Given the description of an element on the screen output the (x, y) to click on. 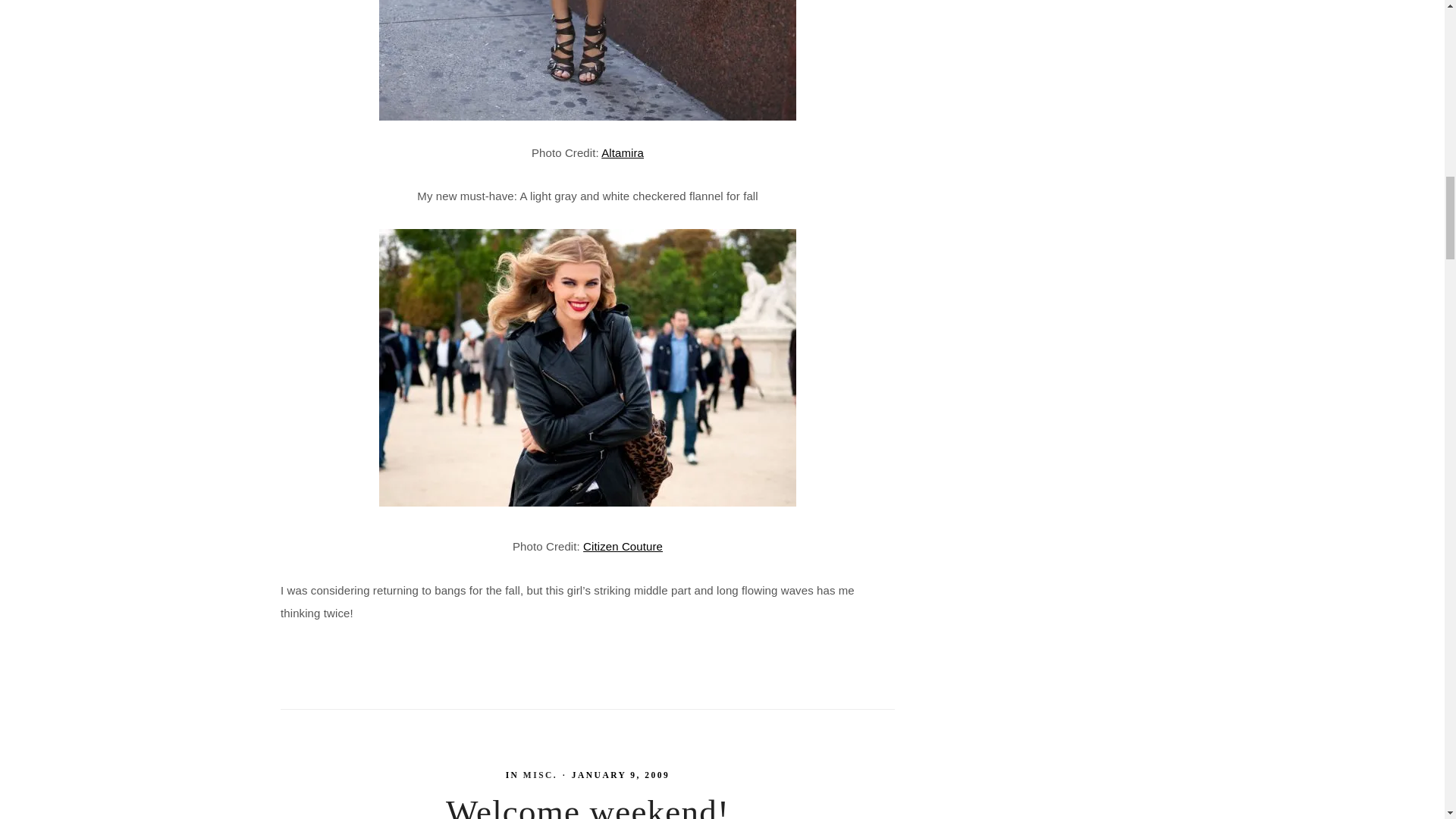
Welcome weekend! (587, 806)
Citizen Couture (622, 545)
CitizenCouture-MARYNA LINCHUK by my style pill, on Flickr (587, 502)
altamira by my style pill, on Flickr (588, 60)
Altamira (622, 152)
MISC. (539, 774)
